Given the description of an element on the screen output the (x, y) to click on. 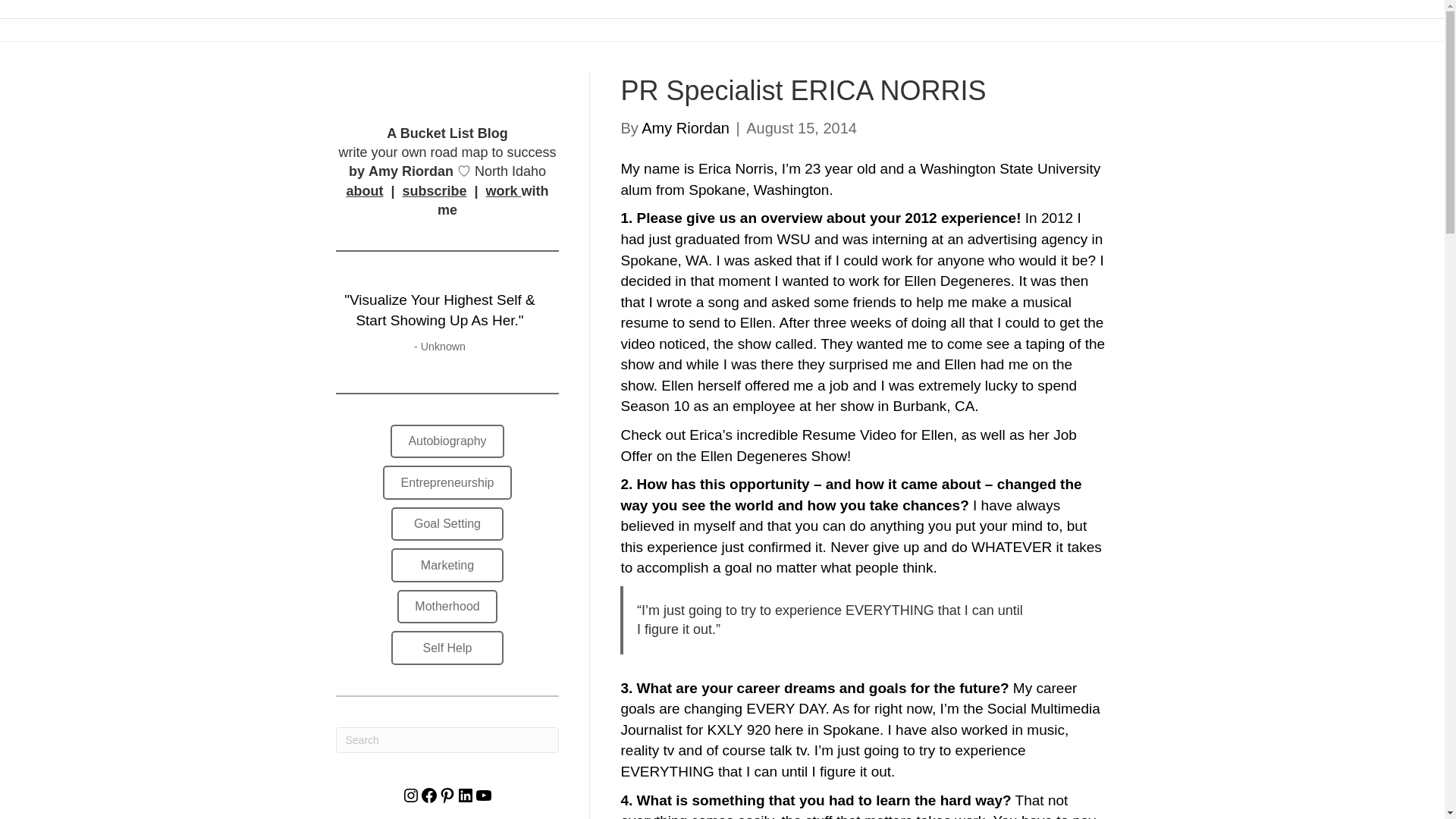
Job Offer (847, 445)
subscribe (433, 191)
work with me (493, 200)
Marketing (446, 564)
Instagram (410, 795)
YouTube (483, 795)
about (364, 191)
Type and press Enter to search. (446, 739)
Facebook (429, 795)
LinkedIn (465, 795)
Autobiography (446, 441)
Entrepreneurship (446, 482)
Resume Video (849, 434)
Self Help (446, 647)
Amy Riordan (685, 127)
